Given the description of an element on the screen output the (x, y) to click on. 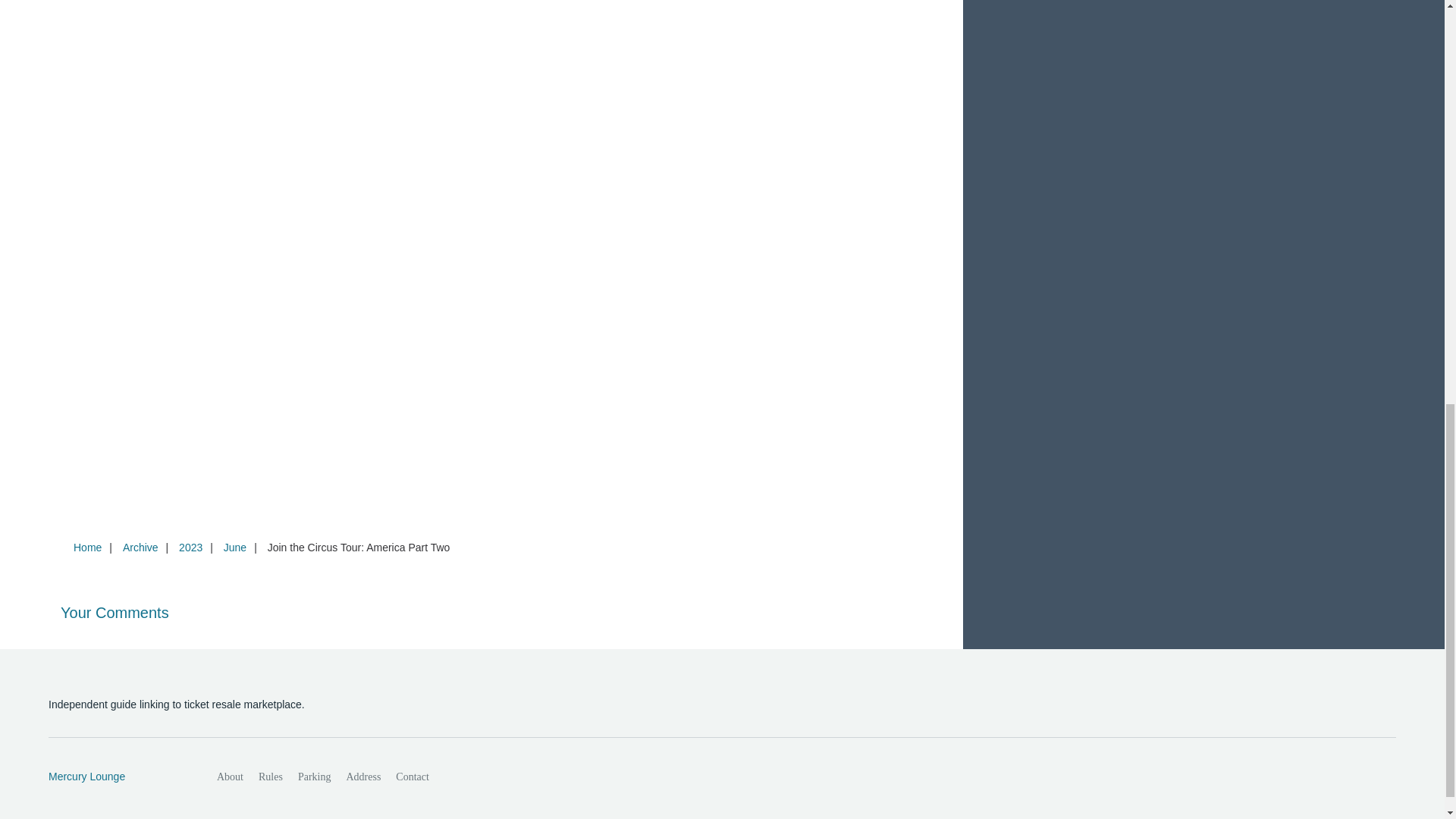
2023 (190, 547)
June (234, 547)
Mercury Lounge (116, 776)
About (229, 777)
VIEW ALL EVENTS (1203, 2)
Contact (412, 777)
Archive (140, 547)
Parking (314, 777)
Rules (269, 777)
Home (87, 547)
Address (362, 777)
